Given the description of an element on the screen output the (x, y) to click on. 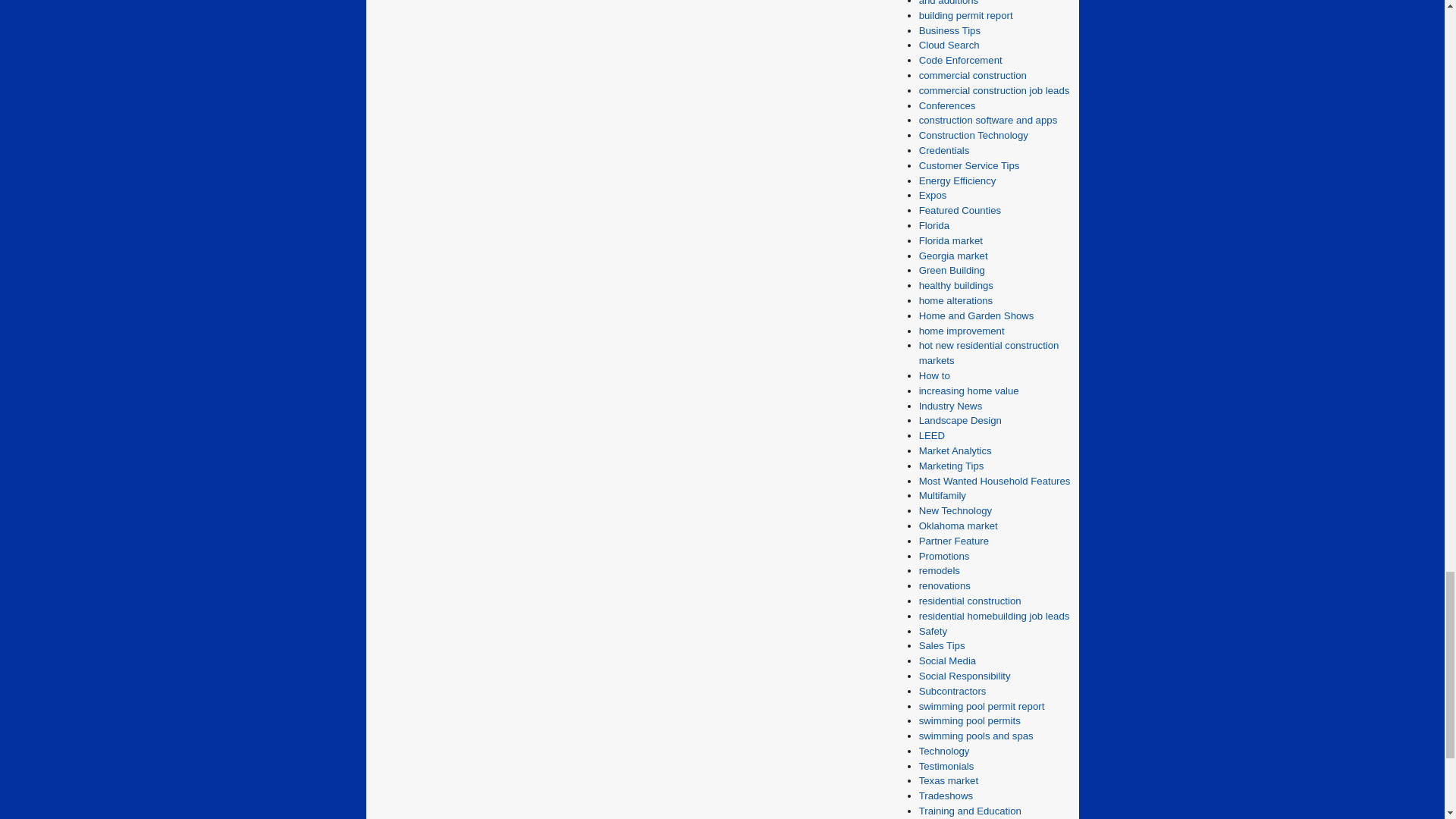
HBWeekly Client Testimonials (946, 766)
Featured County Reports  (959, 210)
The latest construction and builder industry news  (950, 405)
